Given the description of an element on the screen output the (x, y) to click on. 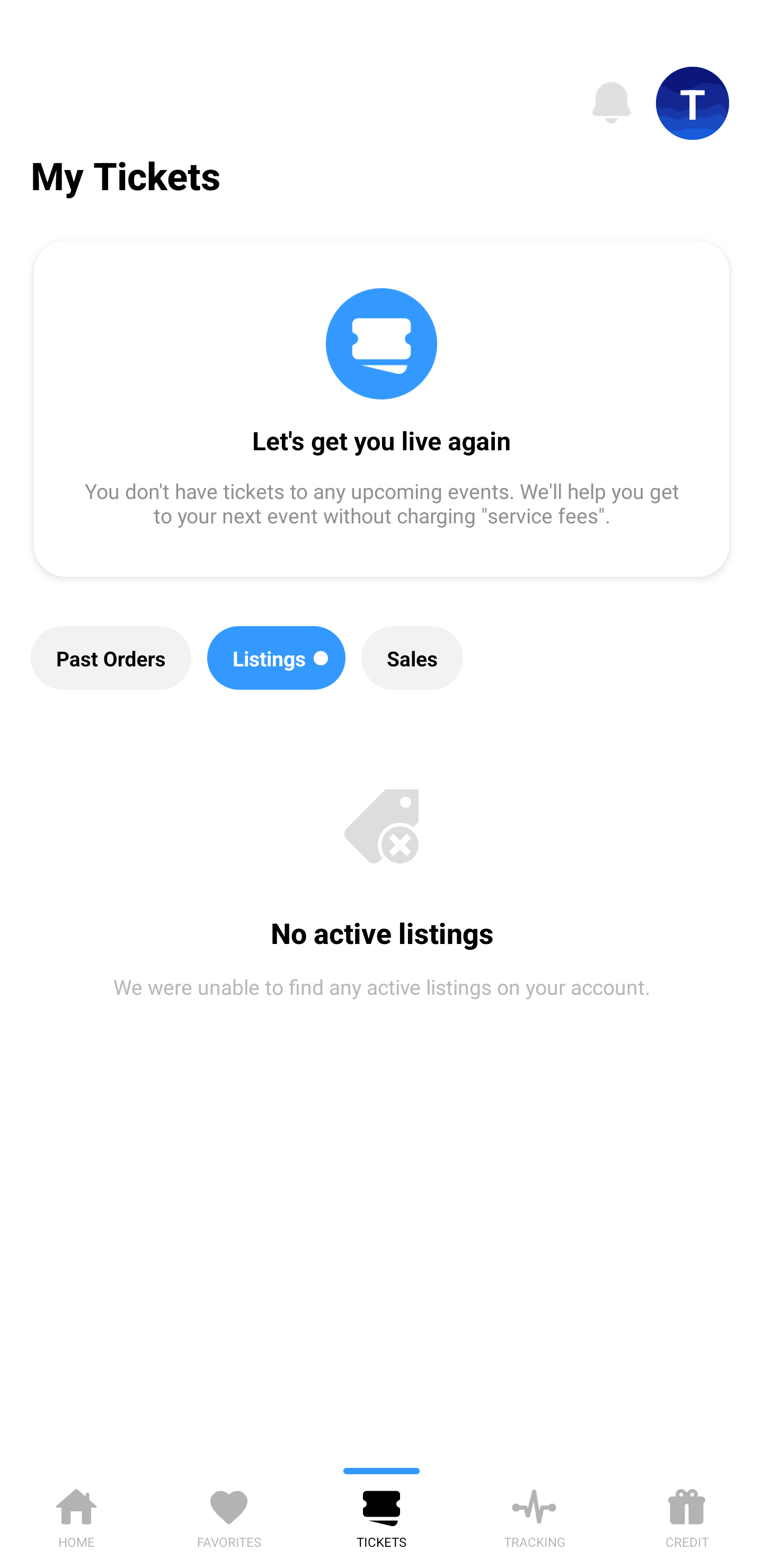
T (692, 103)
Past Orders (110, 657)
Listings (276, 657)
Sales (412, 657)
HOME (76, 1515)
FAVORITES (228, 1515)
TICKETS (381, 1515)
TRACKING (533, 1515)
CREDIT (686, 1515)
